Given the description of an element on the screen output the (x, y) to click on. 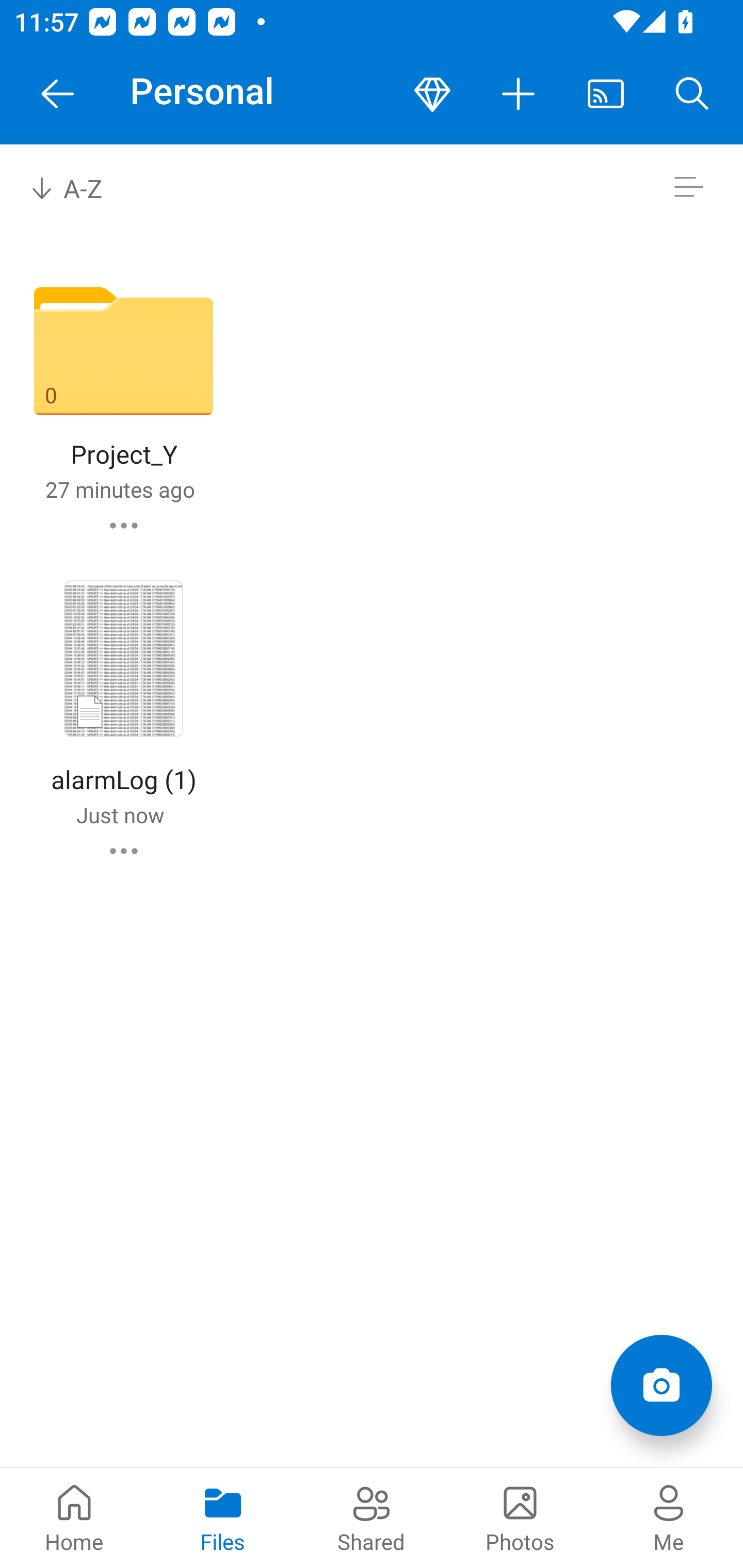
Navigate Up (57, 93)
Cast. Disconnected (605, 93)
Premium button (432, 93)
More actions button (518, 93)
Search button (692, 93)
A-Z Sort by combo box, sort by name, A to Z (80, 187)
Switch to list view (688, 187)
27 minutes ago (119, 489)
Project_Y commands (123, 525)
Just now (119, 814)
alarmLog (1) commands (123, 851)
Add items Scan (660, 1385)
Home pivot Home (74, 1517)
Shared pivot Shared (371, 1517)
Photos pivot Photos (519, 1517)
Me pivot Me (668, 1517)
